Given the description of an element on the screen output the (x, y) to click on. 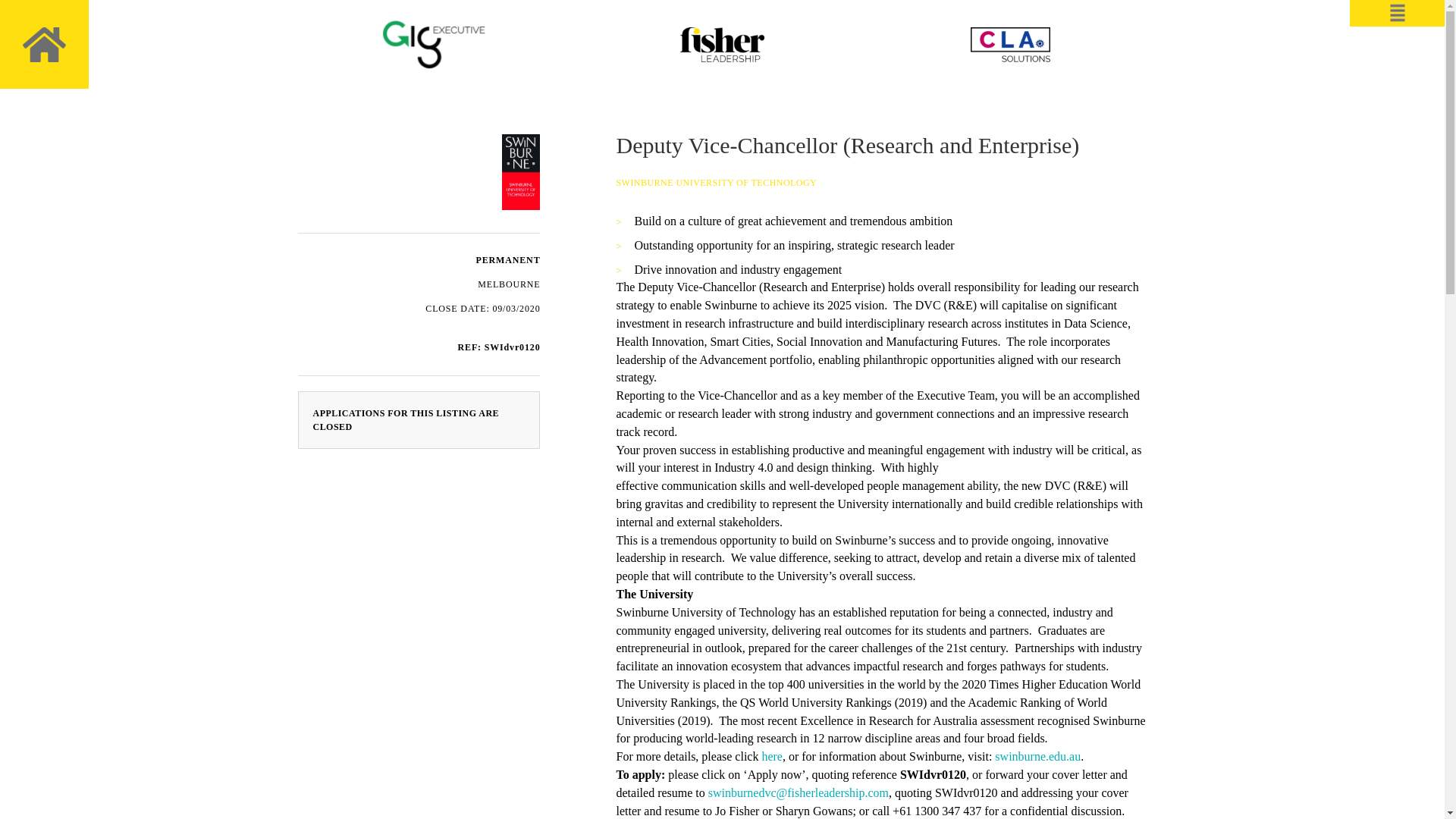
Fisher Leadership Logo (722, 44)
swinburne.edu.au (1037, 756)
CLA-LGE-smal-e1657780151438 (1010, 44)
home-solid (44, 44)
SWINBURNE UNIVERSITY OF TECHNOLOGY (715, 182)
here (772, 756)
